Given the description of an element on the screen output the (x, y) to click on. 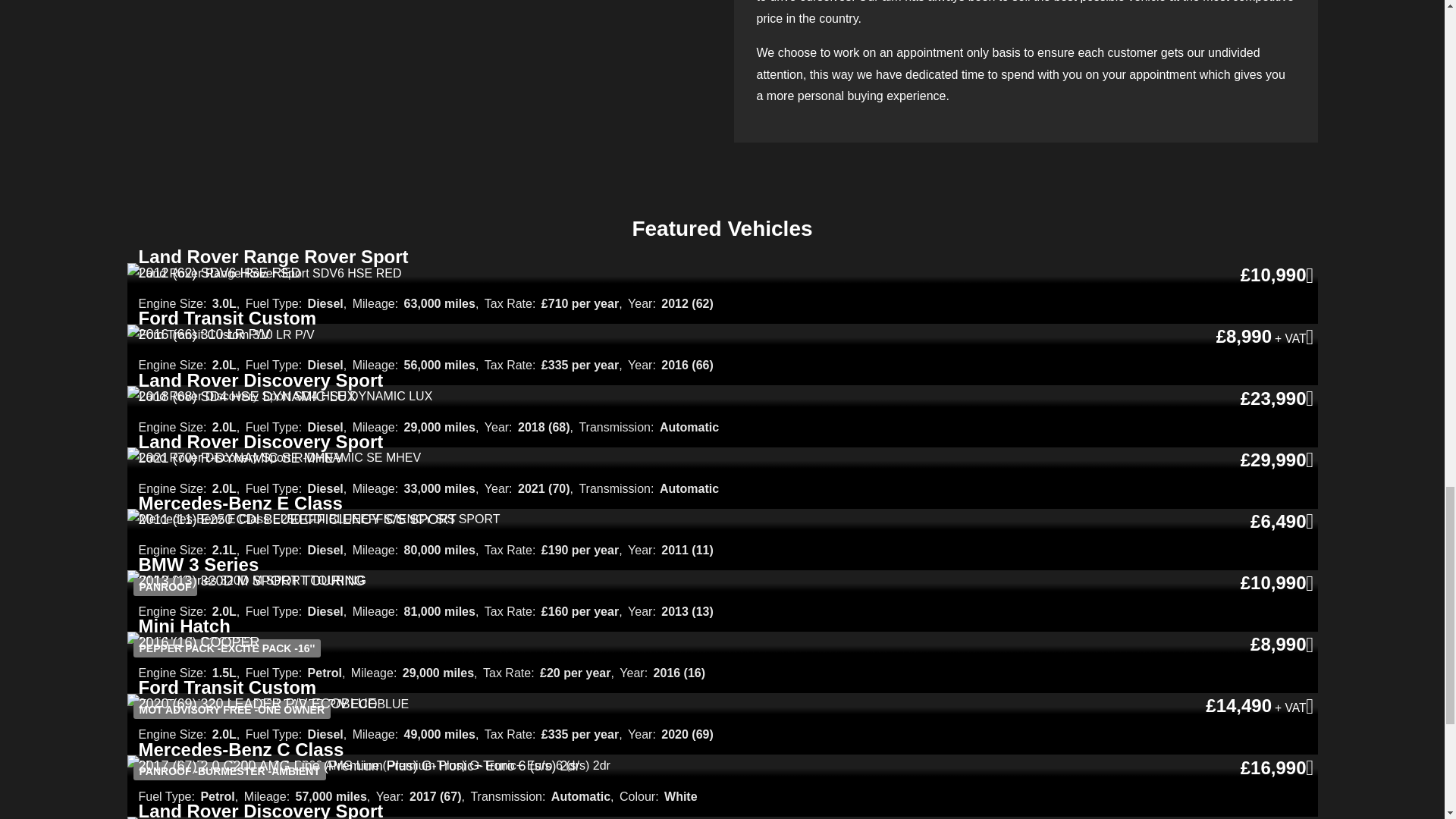
PANROOF (247, 580)
